Given the description of an element on the screen output the (x, y) to click on. 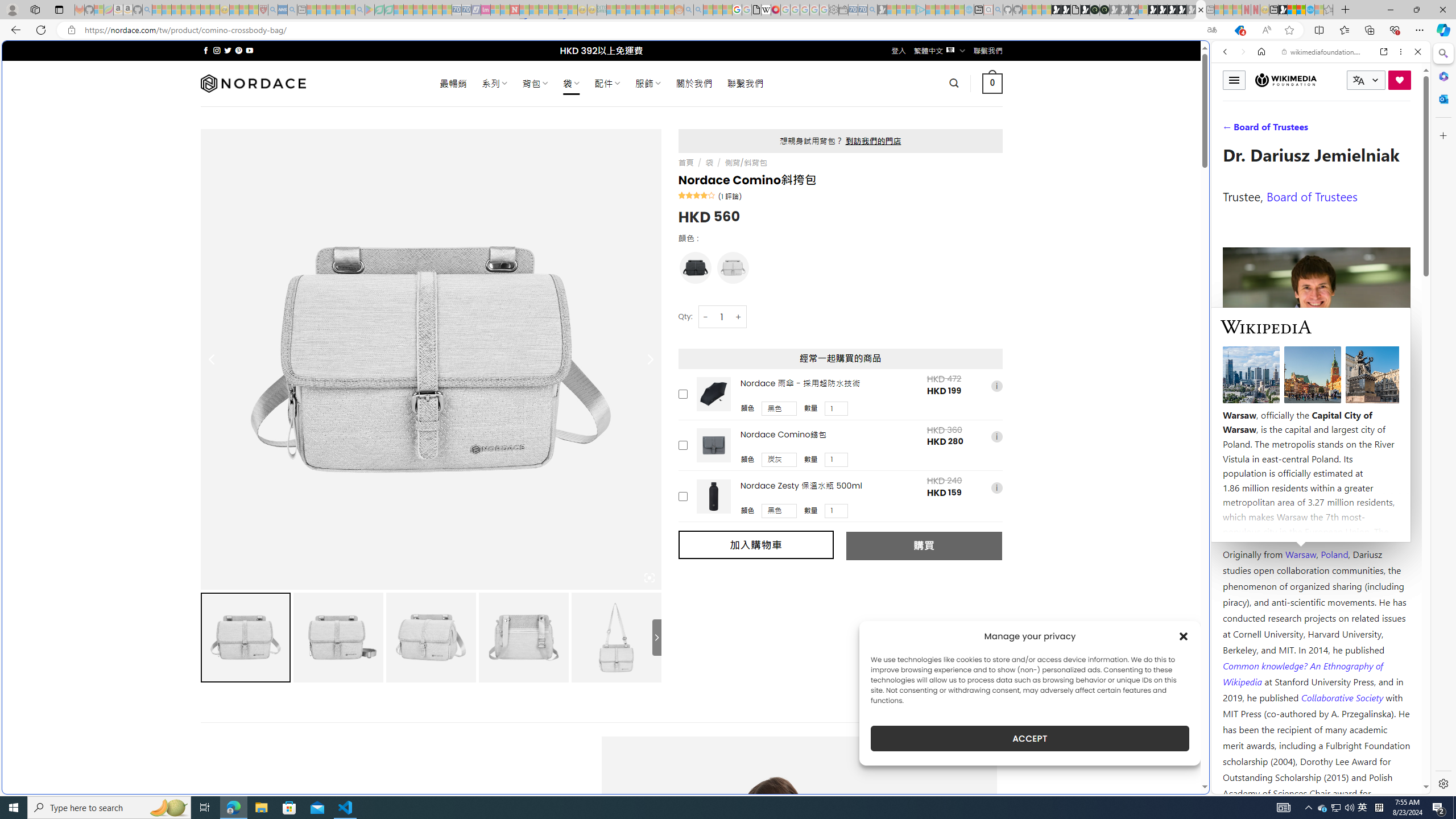
Harvard University (1259, 526)
+ (738, 316)
Follow on Pinterest (237, 50)
utah sues federal government - Search (922, 389)
Target page - Wikipedia (766, 9)
